Given the description of an element on the screen output the (x, y) to click on. 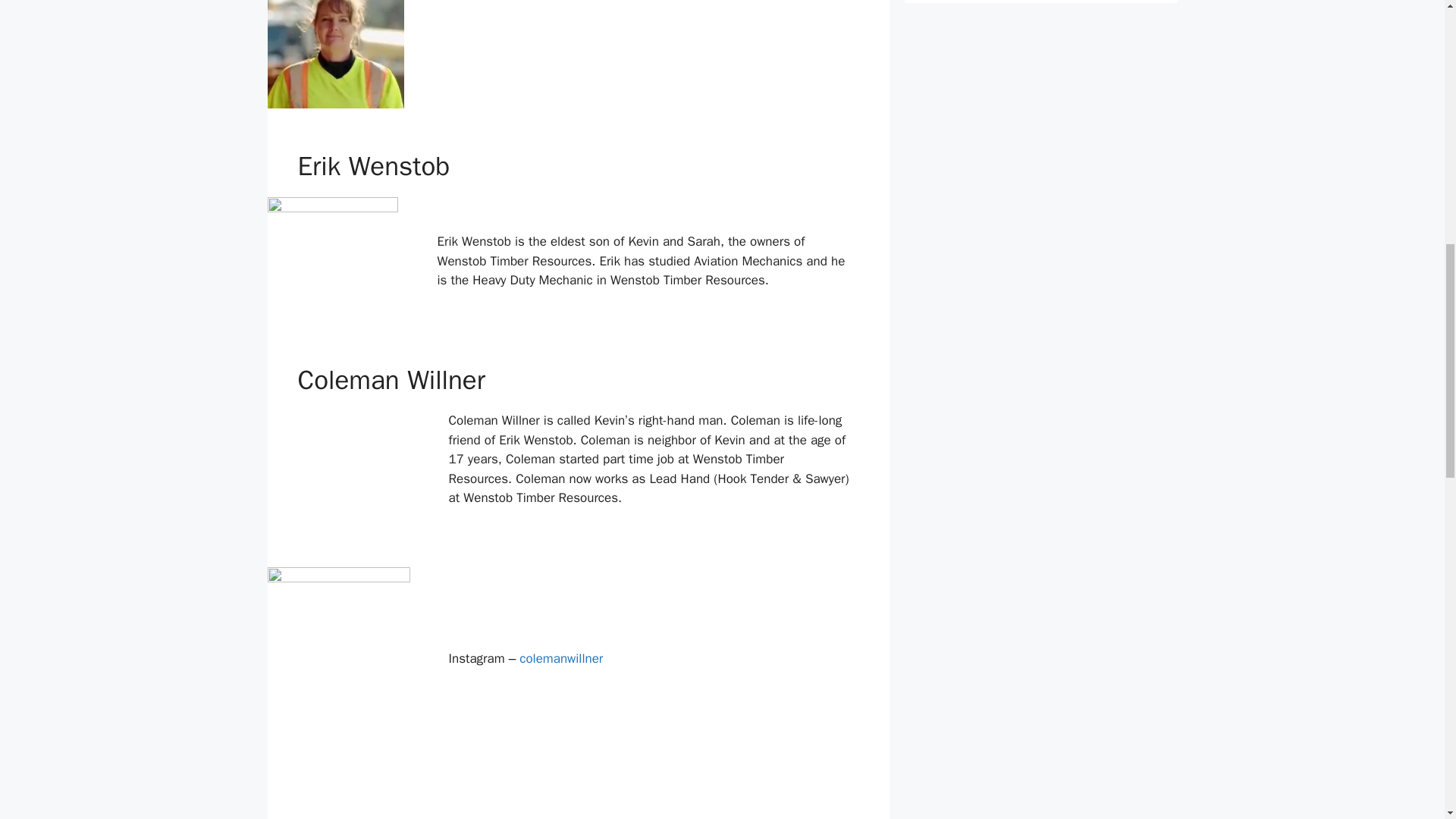
colemanwillner (560, 658)
